Given the description of an element on the screen output the (x, y) to click on. 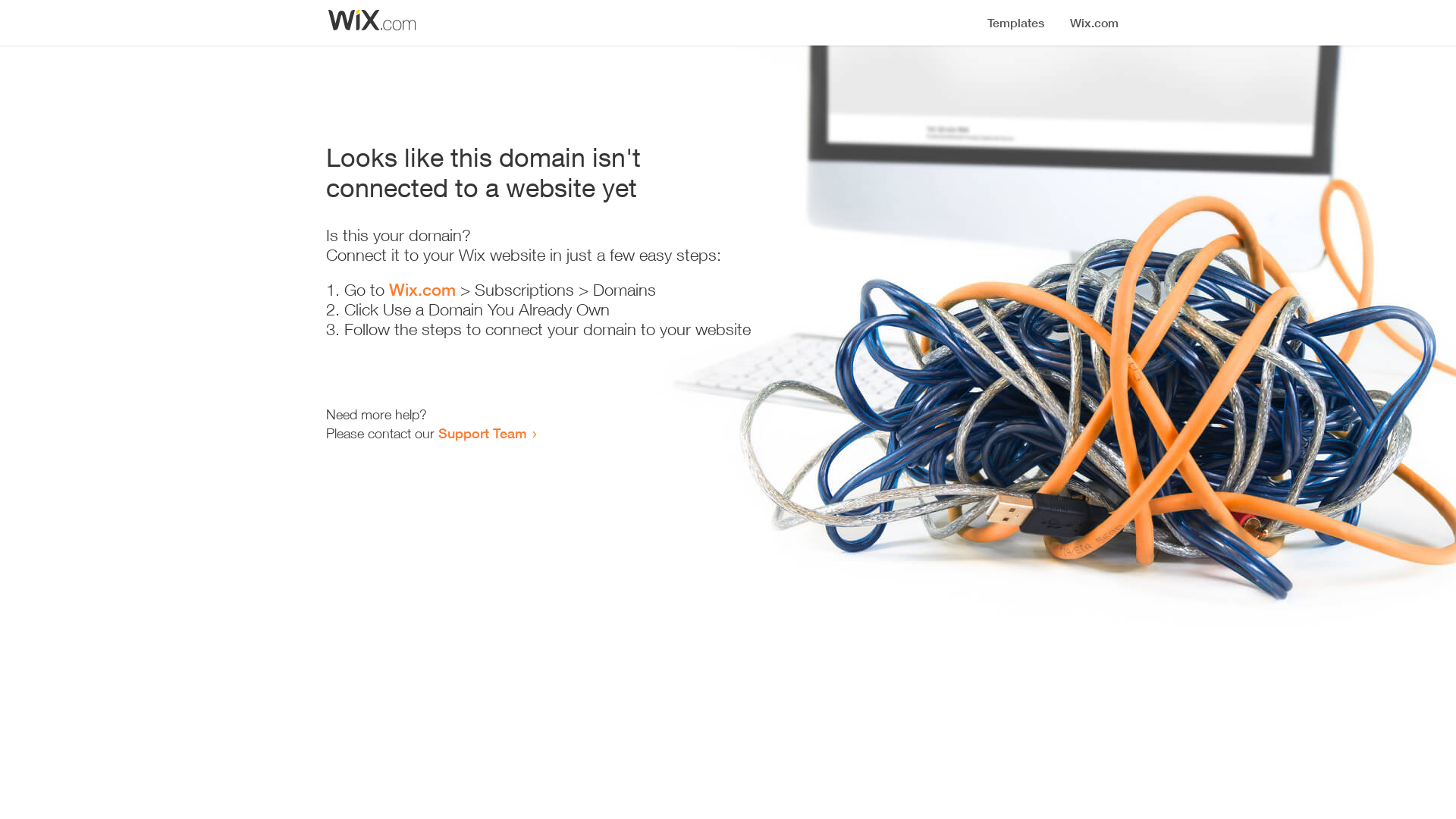
Wix.com Element type: text (422, 289)
Support Team Element type: text (482, 432)
